Given the description of an element on the screen output the (x, y) to click on. 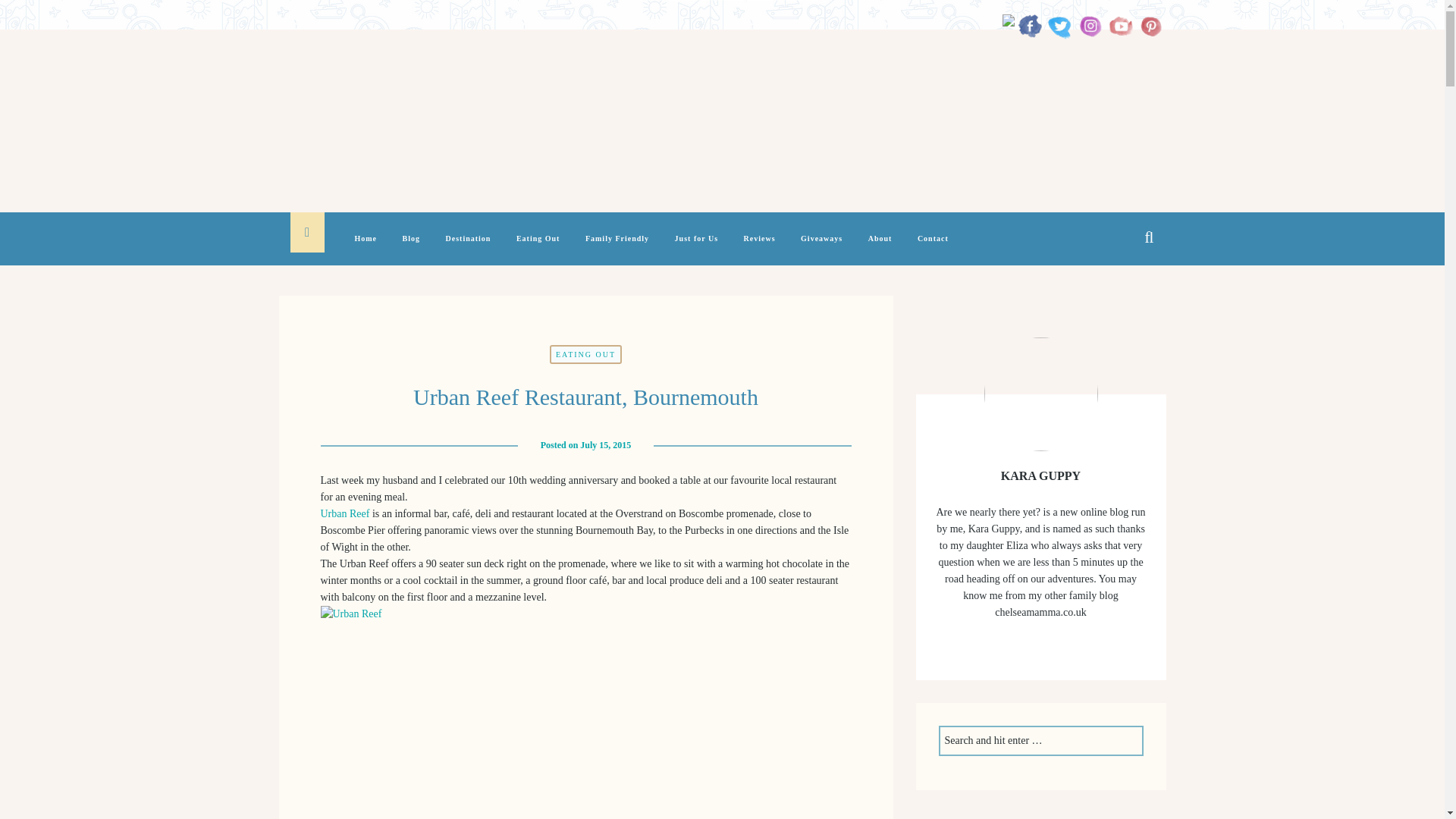
Reviews (759, 247)
Just for Us (695, 247)
Destination (468, 247)
Blog (411, 247)
Family Friendly (617, 247)
About (879, 247)
Home (366, 247)
Giveaways (821, 247)
Eating Out (537, 247)
